Given the description of an element on the screen output the (x, y) to click on. 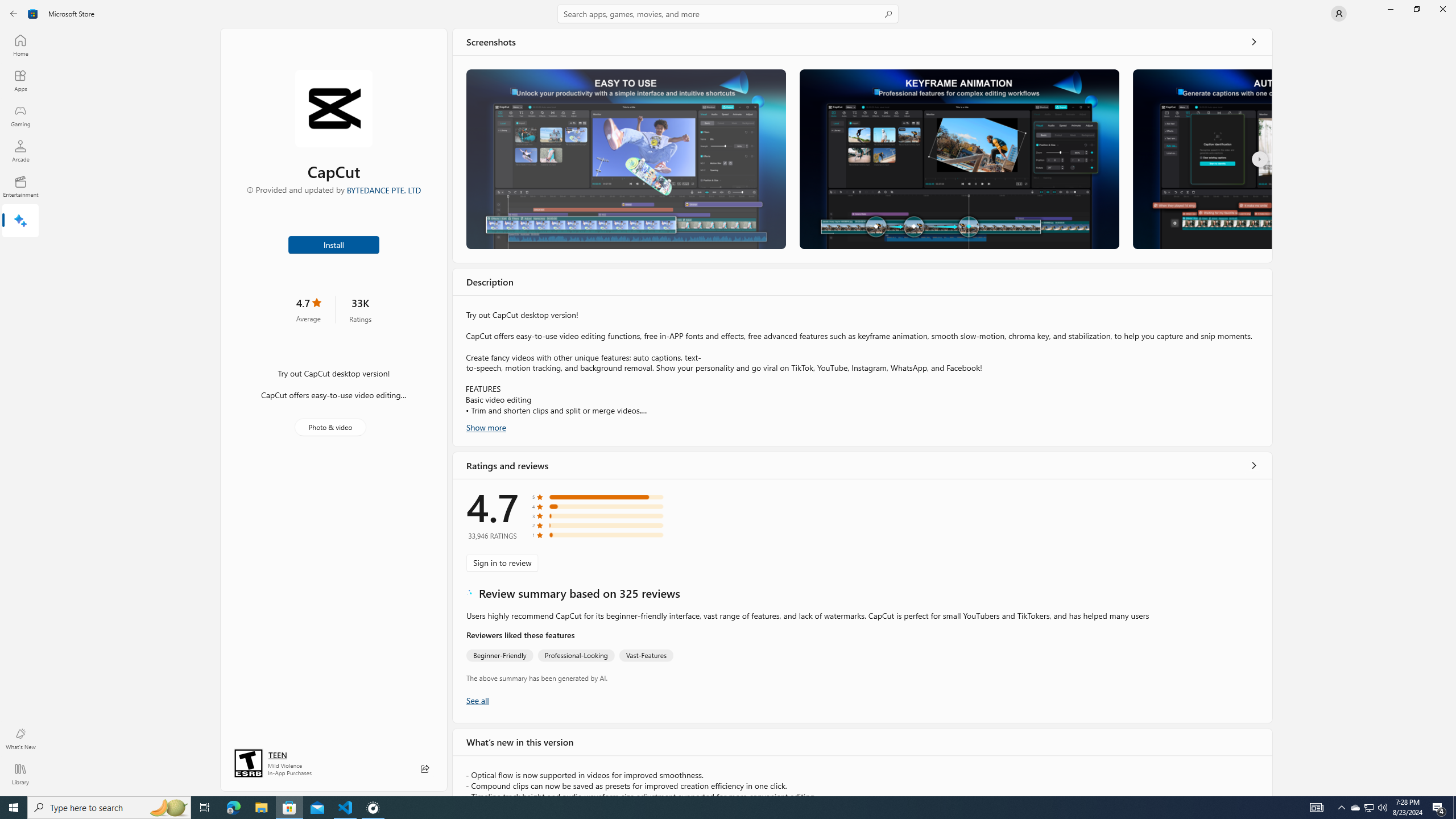
Show all ratings and reviews (1253, 465)
Back (13, 13)
4.7 stars. Click to skip to ratings and reviews (307, 309)
Photo & video (329, 426)
Age rating: TEEN. Click for more information. (276, 754)
Share (424, 769)
Show more (485, 426)
